Given the description of an element on the screen output the (x, y) to click on. 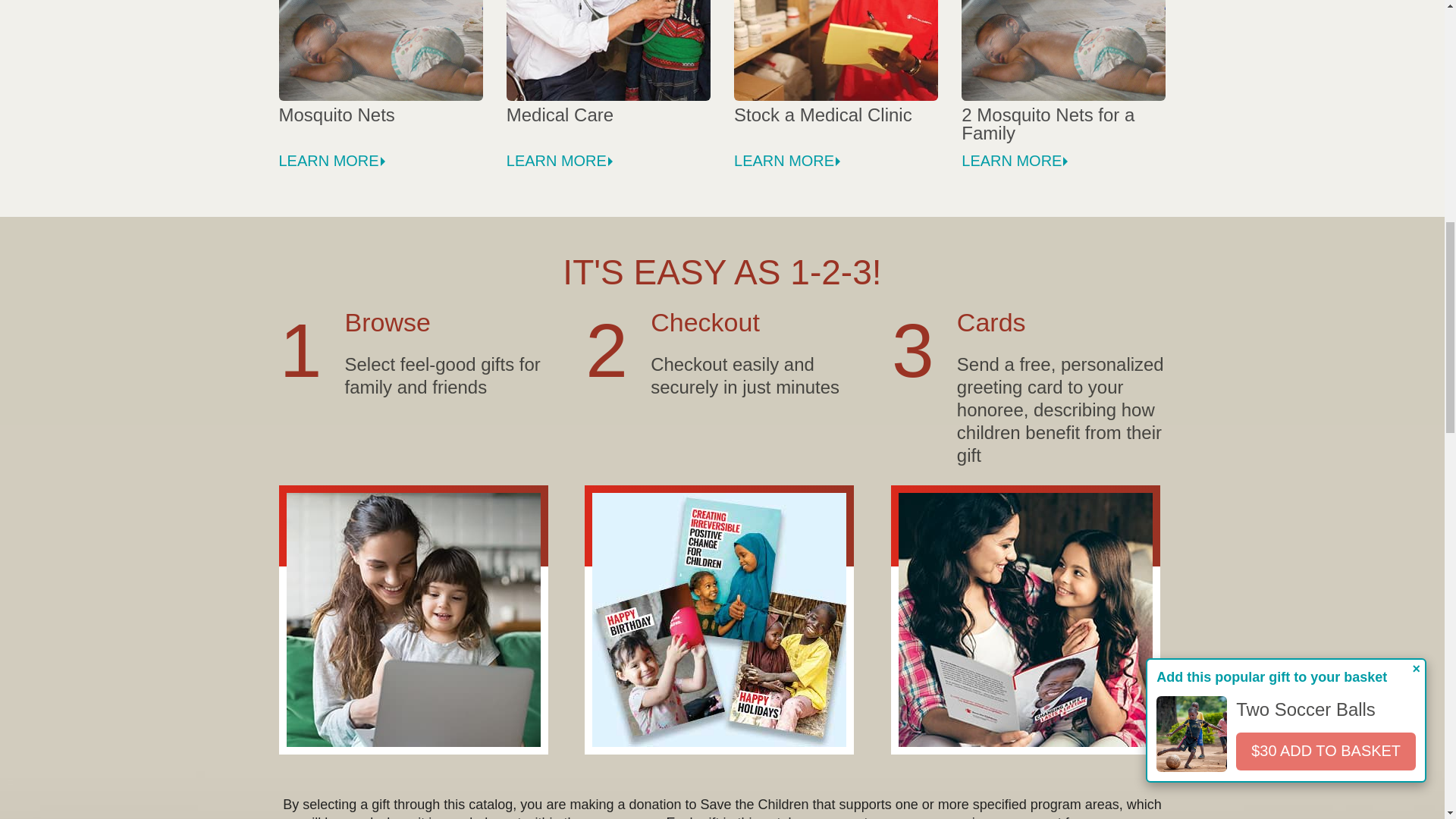
Click here for more information about Stock a Medical Clinic (835, 53)
Click here for more information about Medical Care (608, 53)
Click here for more information about Mosquito Nets (381, 53)
